Given the description of an element on the screen output the (x, y) to click on. 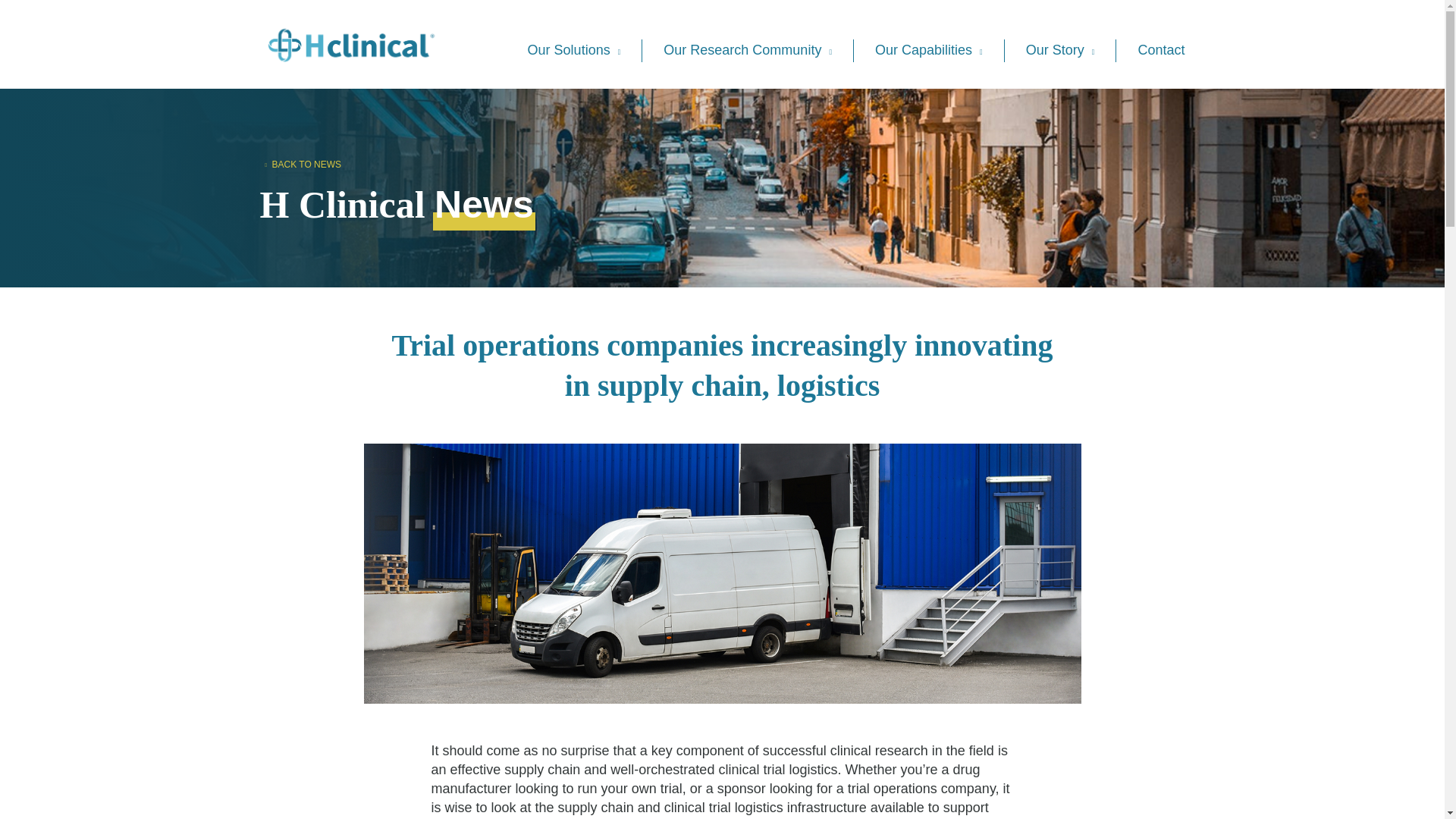
Our Solutions (574, 49)
BACK TO NEWS (319, 158)
Our Capabilities (928, 49)
Contact (1161, 49)
Our Story (1060, 49)
Our Research Community (747, 49)
